Given the description of an element on the screen output the (x, y) to click on. 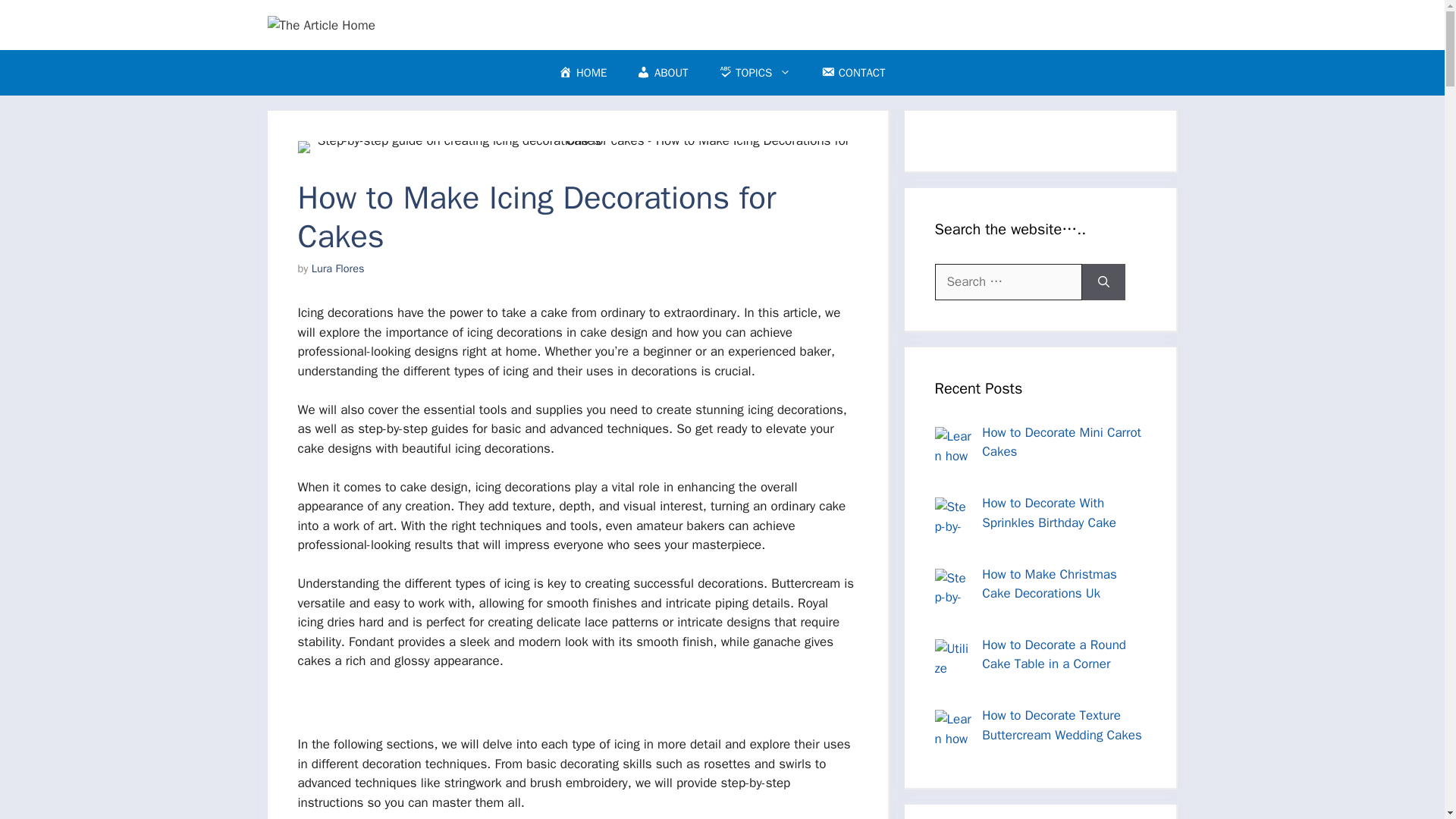
How to Make Icing Decorations for Cakes 1 (577, 146)
HOME (582, 72)
View all posts by Lura Flores (338, 268)
ABOUT (662, 72)
TOPICS (754, 72)
